Given the description of an element on the screen output the (x, y) to click on. 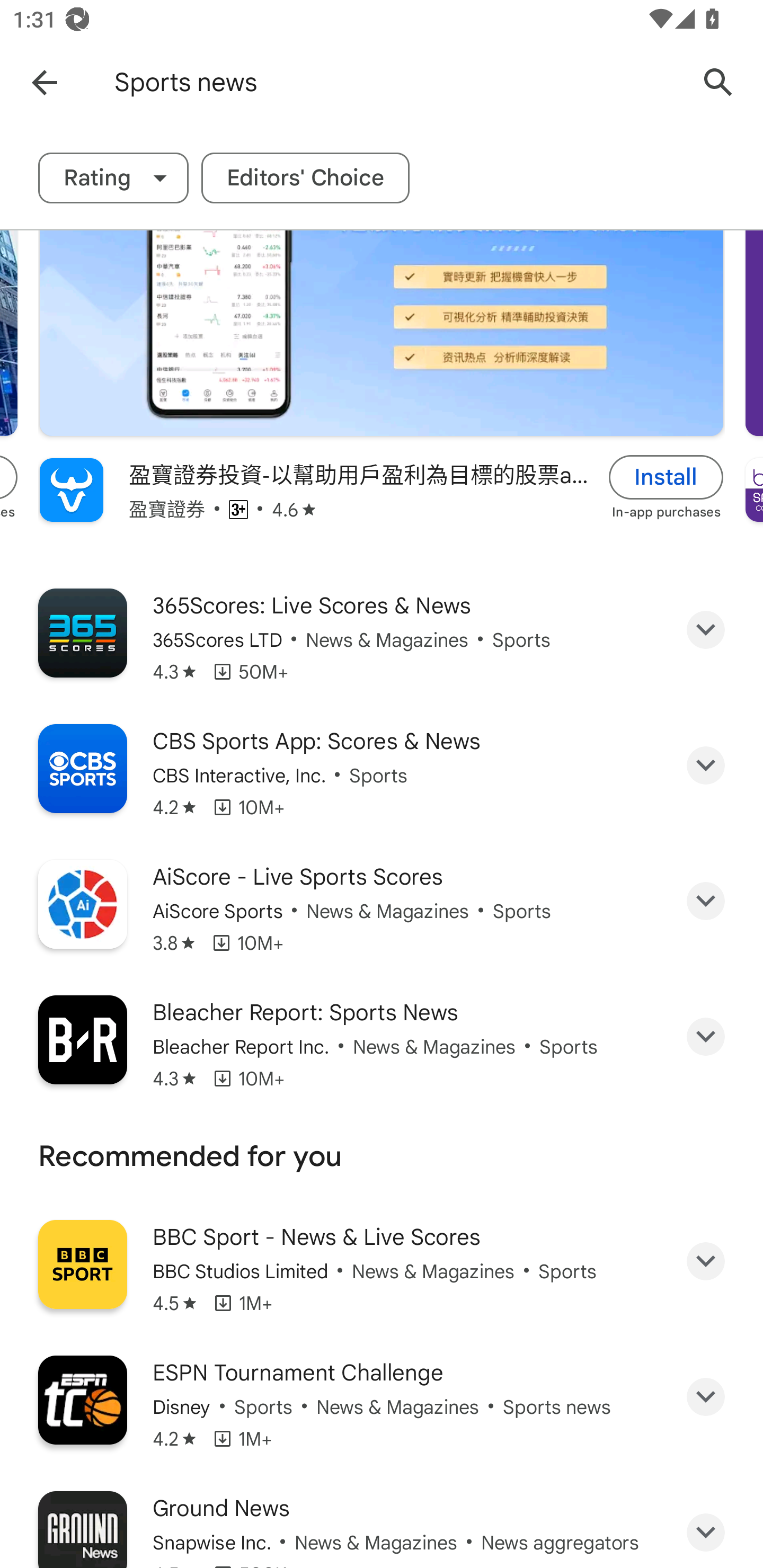
Sports news (397, 82)
Navigate up (44, 81)
Search Google Play (718, 81)
Rating - double tap to change the filter (113, 177)
Editors' Choice - double tap to toggle the filter (305, 177)
Install (665, 477)
Expand content for 365Scores: Live Scores & News (705, 629)
Expand content for CBS Sports App: Scores & News (705, 764)
Expand content for AiScore - Live Sports Scores (705, 900)
Expand content for Bleacher Report: Sports News (705, 1036)
Expand content for BBC Sport - News & Live Scores (705, 1261)
Expand content for ESPN Tournament Challenge (705, 1396)
Expand content for Ground News (705, 1531)
